Given the description of an element on the screen output the (x, y) to click on. 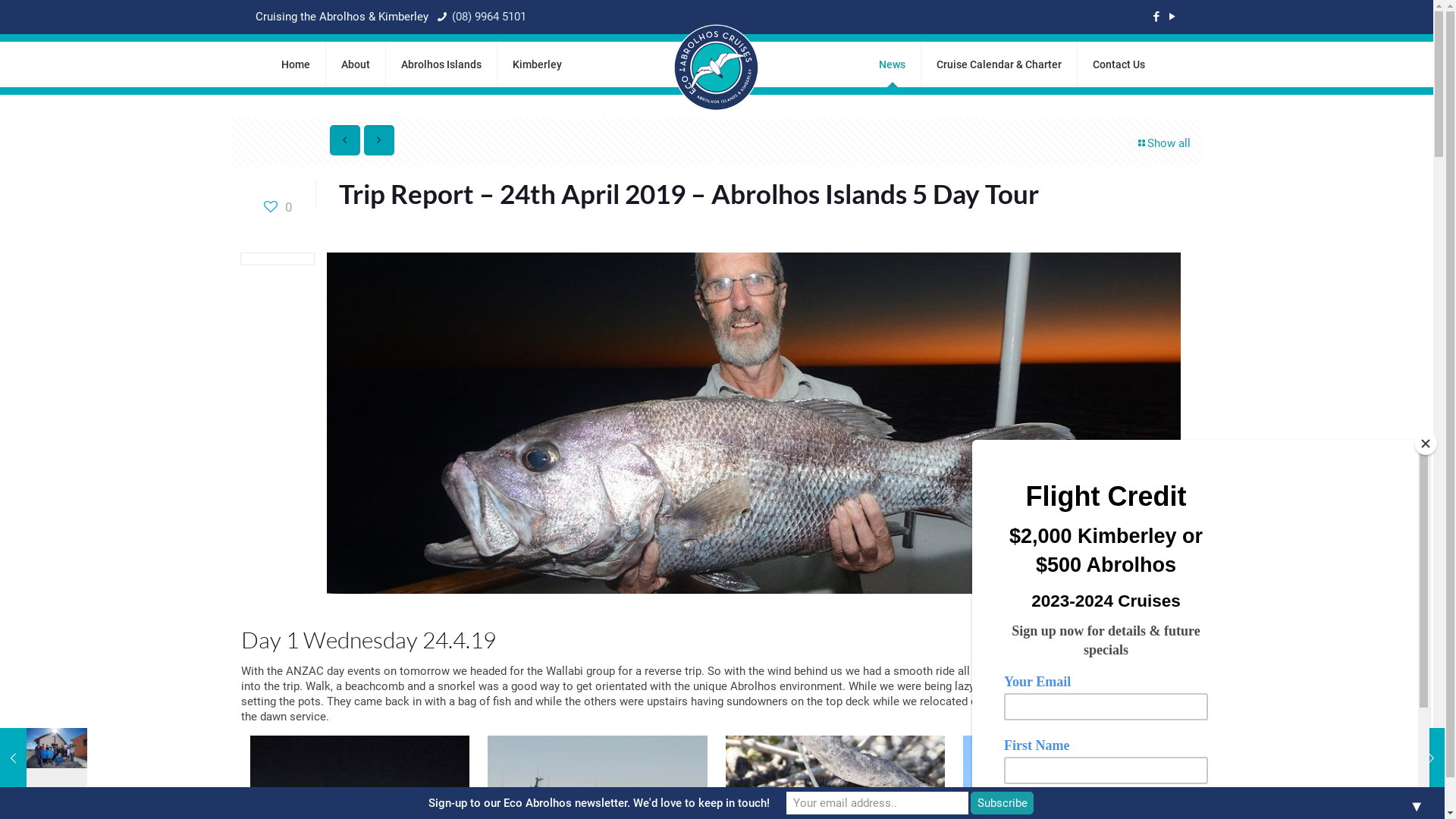
Kimberley Element type: text (537, 64)
About Element type: text (355, 64)
Eco Abrolhos Element type: hover (716, 65)
YouTube Element type: hover (1171, 16)
Facebook Element type: hover (1155, 16)
Home Element type: text (296, 64)
News Element type: text (892, 64)
Abrolhos Islands Element type: text (441, 64)
Subscribe Element type: text (1001, 802)
Cruise Calendar & Charter Element type: text (999, 64)
Show all Element type: text (1162, 143)
Contact Us Element type: text (1118, 64)
(08) 9964 5101 Element type: text (487, 16)
0 Element type: text (277, 206)
